Given the description of an element on the screen output the (x, y) to click on. 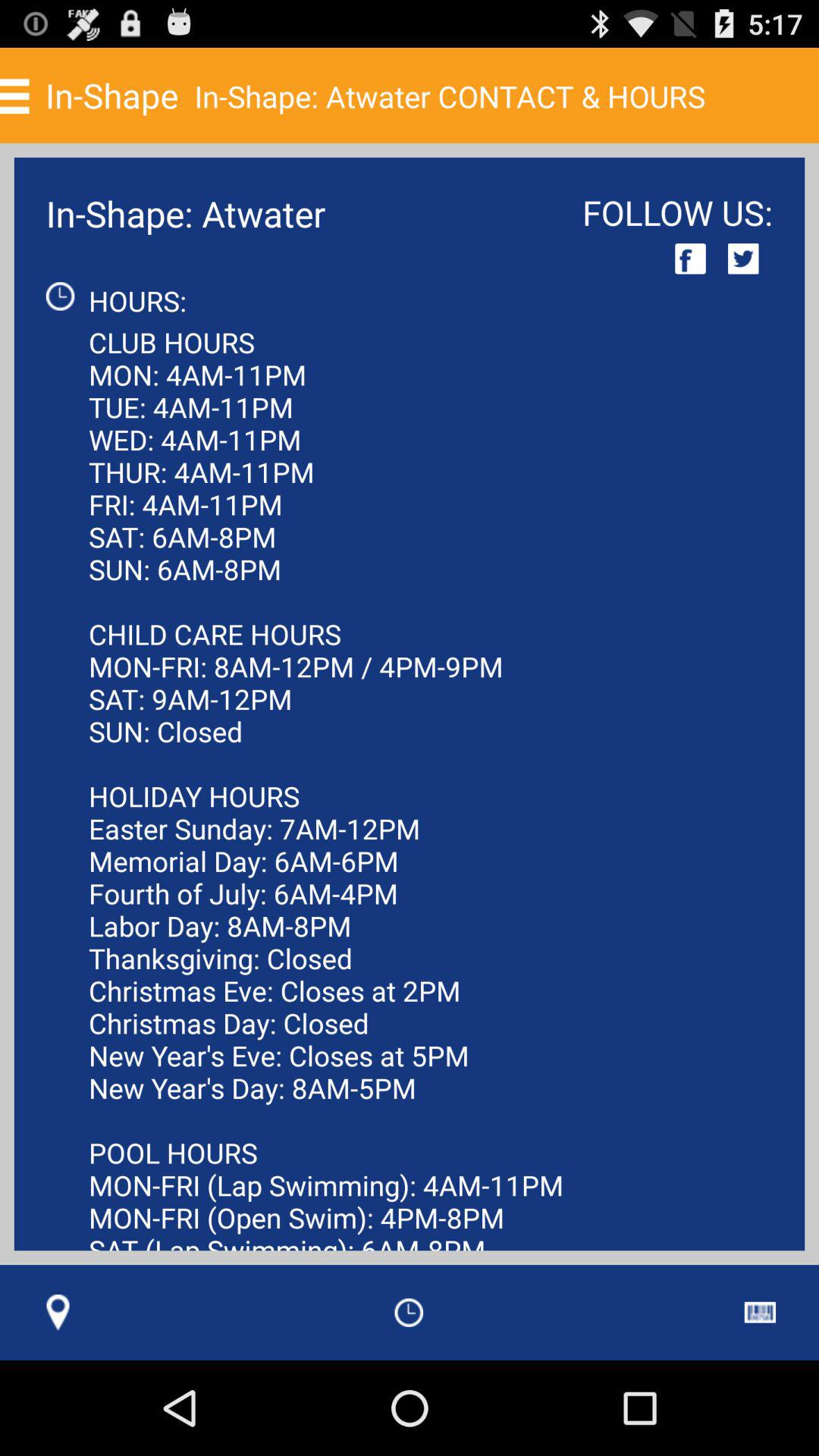
choose the app next to club hours mon icon (759, 1312)
